Given the description of an element on the screen output the (x, y) to click on. 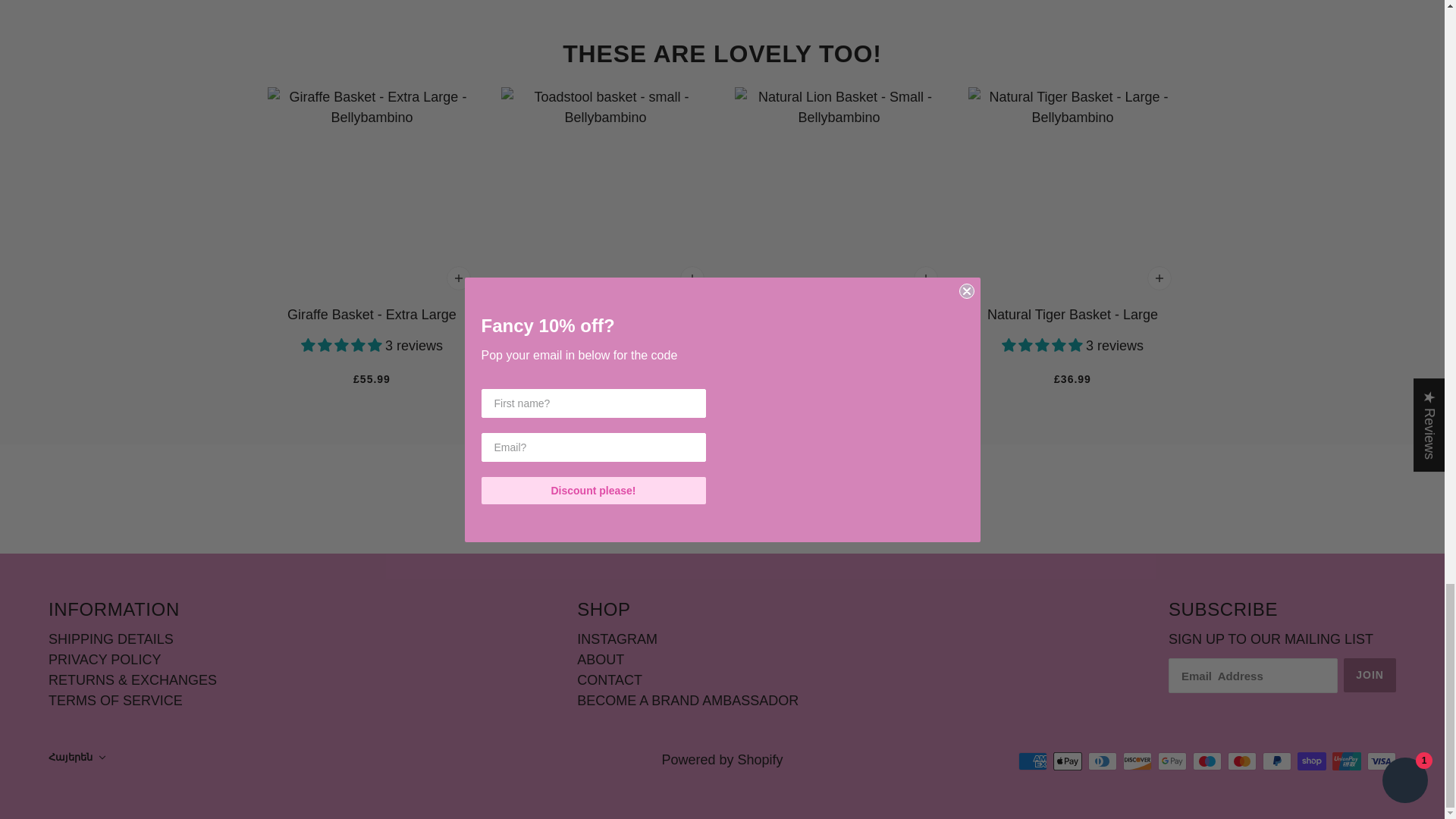
Diners Club (1101, 761)
ABOUT (600, 659)
INSTAGRAM (617, 639)
Google Pay (1171, 761)
Discover (1136, 761)
Shop Pay (1311, 761)
Mastercard (1241, 761)
Maestro (1206, 761)
ABOUT (600, 659)
SHIPPING DETAILS (110, 639)
CONTACT (609, 679)
PRIVACY POLICY (104, 659)
INSTAGRAM (617, 639)
BECOME A BRAND AMBASSADOR (686, 700)
TERMS OF SERVICE (115, 700)
